Given the description of an element on the screen output the (x, y) to click on. 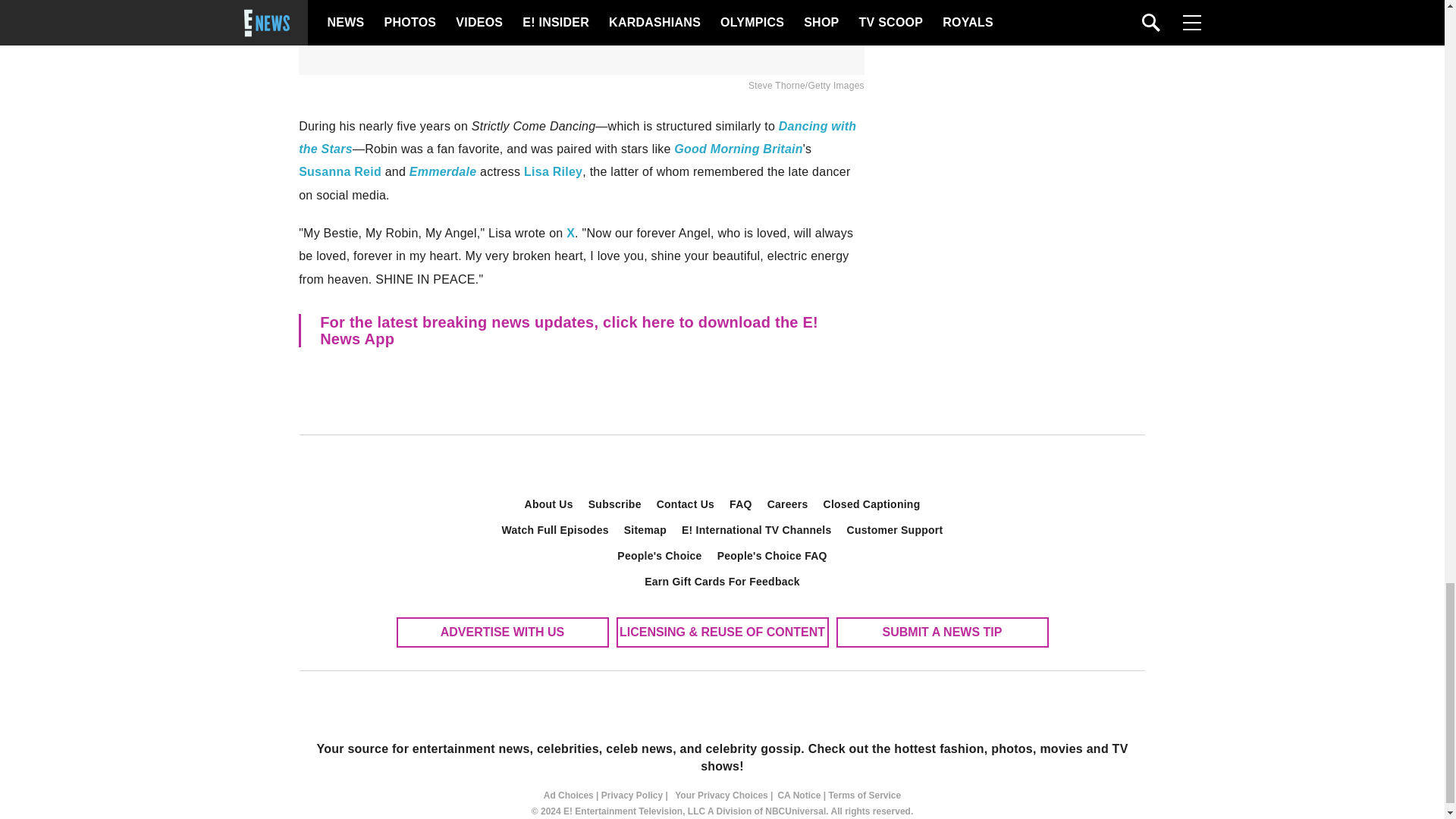
Susanna Reid (339, 171)
Emmerdale (443, 171)
Lisa Riley (553, 171)
Good Morning Britain (738, 148)
Dancing with the Stars (577, 137)
